Given the description of an element on the screen output the (x, y) to click on. 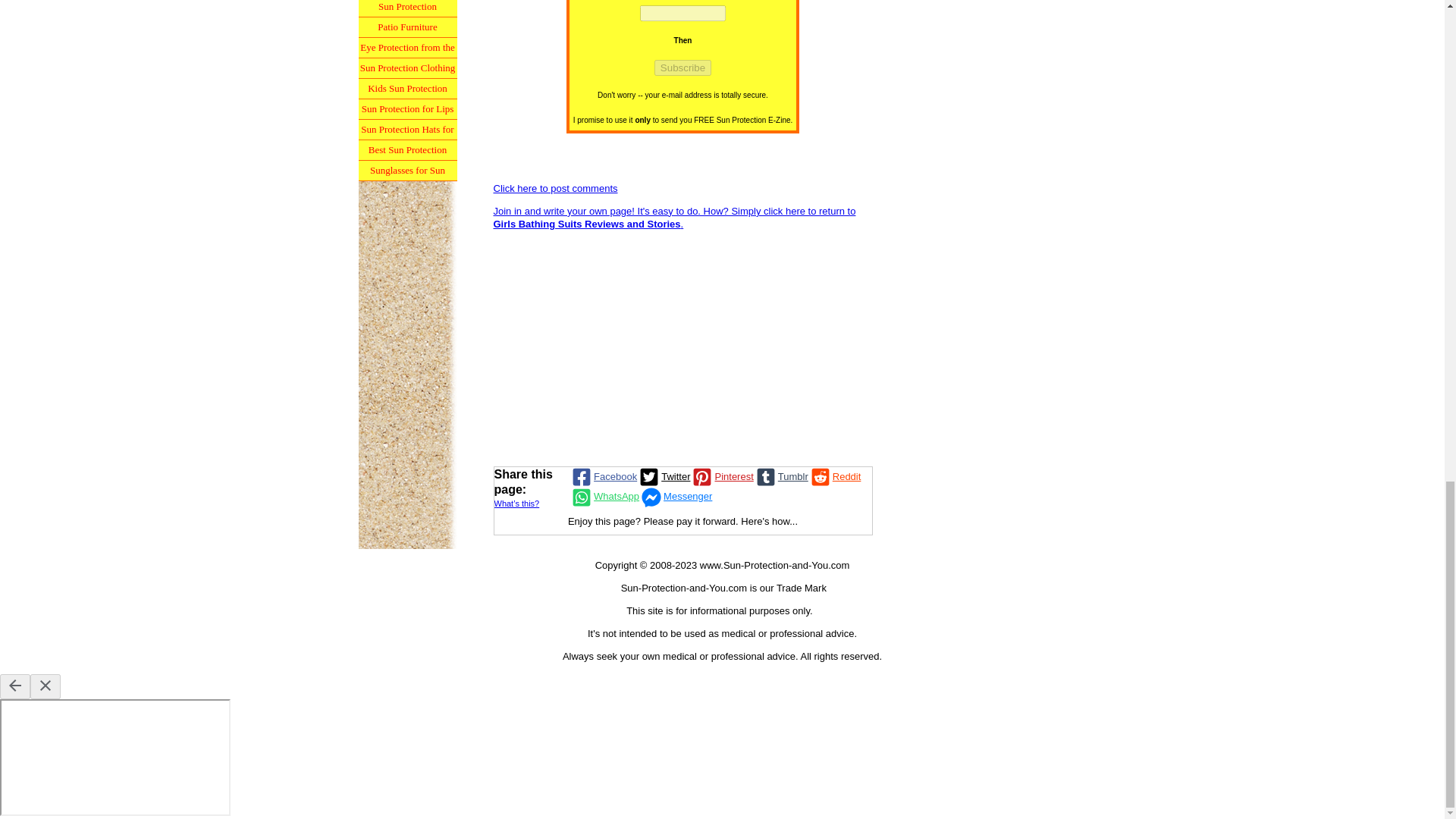
Subscribe (682, 67)
WhatsApp (604, 496)
Reddit (834, 476)
Click here to post comments (555, 188)
Advertisement (681, 346)
Facebook (603, 476)
Pinterest (721, 476)
Twitter (663, 476)
Tumblr (781, 476)
Messenger (675, 496)
